Given the description of an element on the screen output the (x, y) to click on. 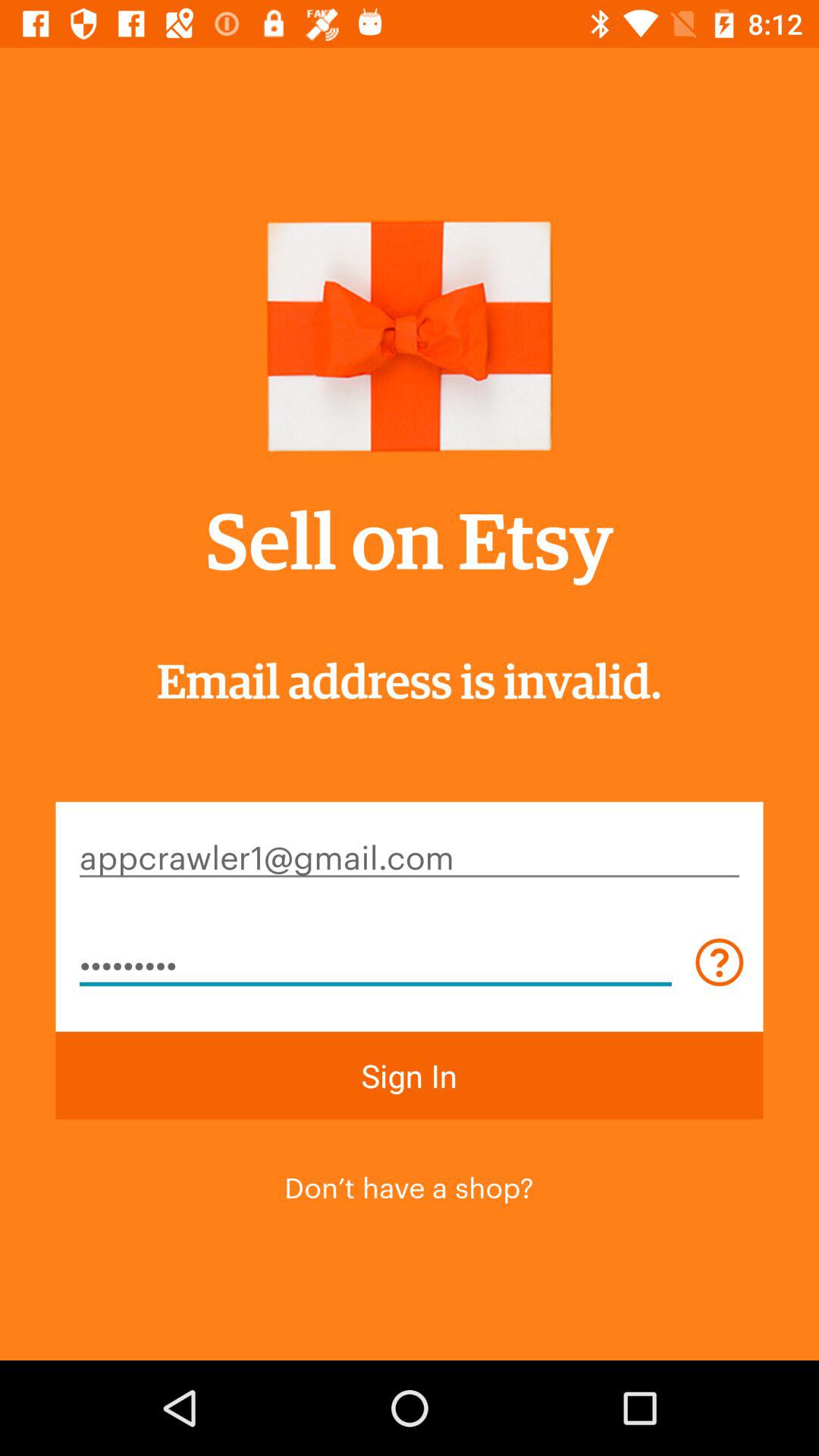
flip until the appcrawler1@gmail.com icon (409, 854)
